Given the description of an element on the screen output the (x, y) to click on. 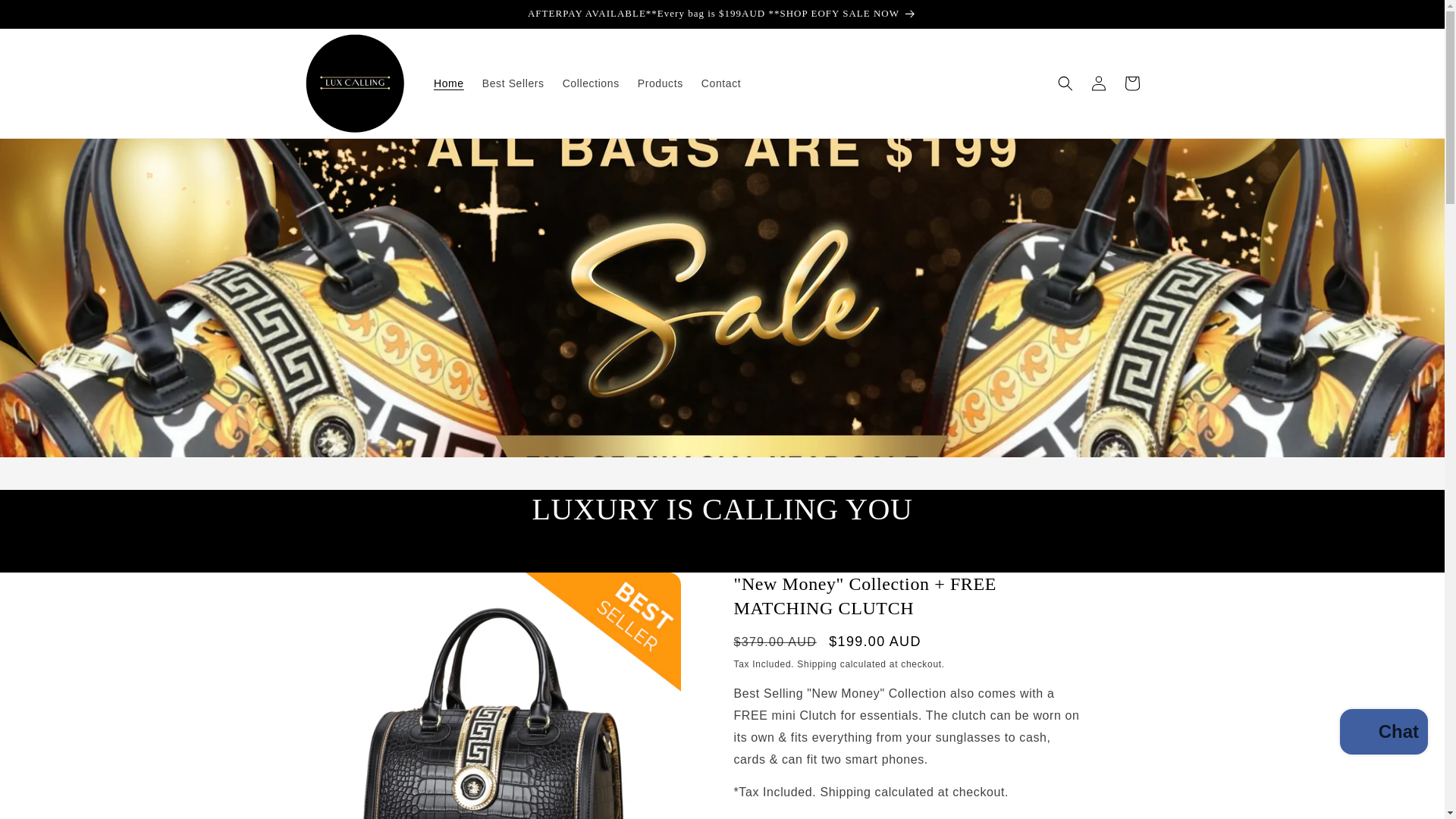
Skip to content (45, 17)
Cart (1131, 82)
Shopify online store chat (1383, 733)
Home (449, 83)
Log in (1098, 82)
Best Sellers (513, 83)
Collections (590, 83)
Products (660, 83)
Contact (721, 83)
